Given the description of an element on the screen output the (x, y) to click on. 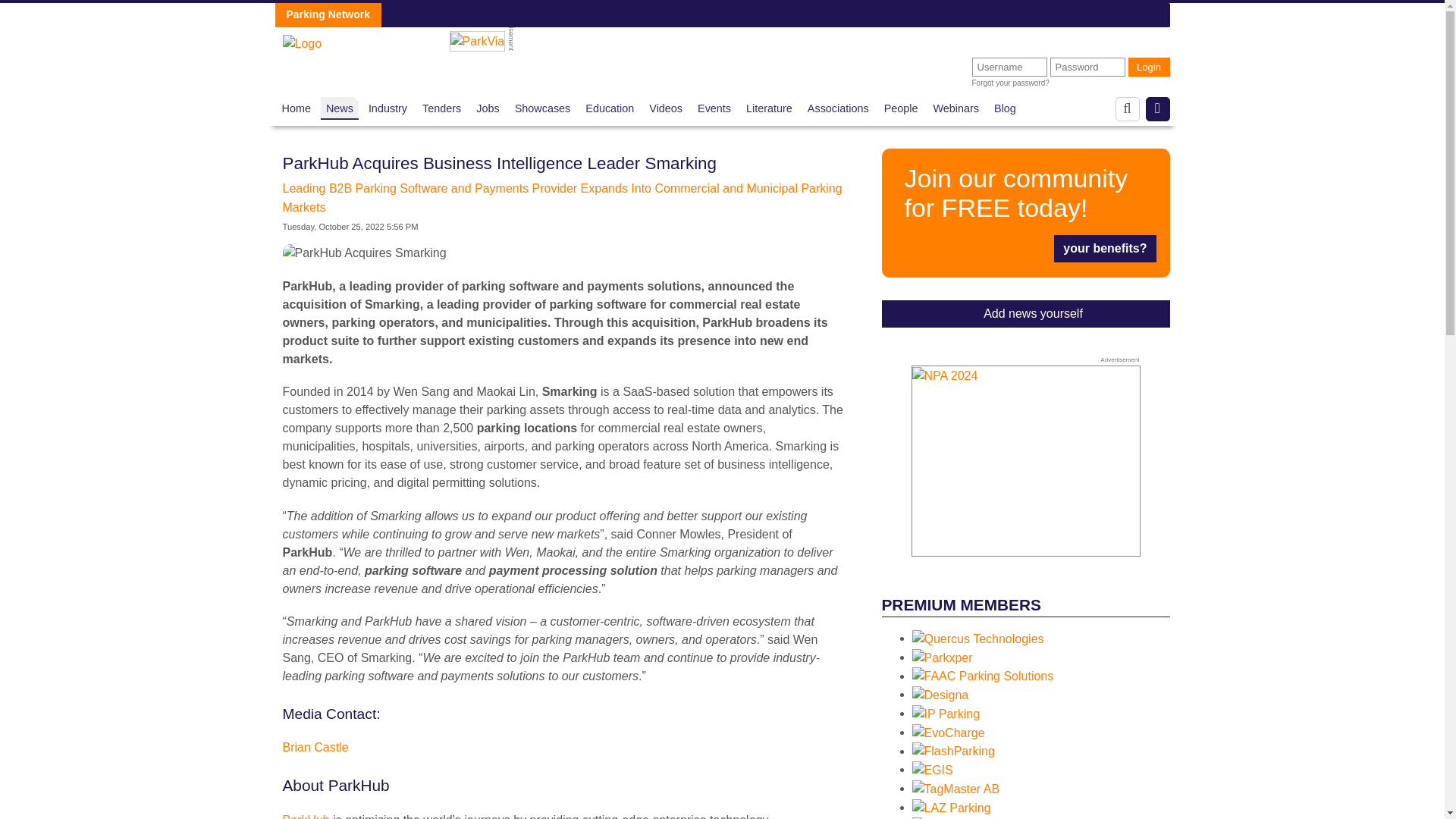
Literature (768, 108)
Blog (1005, 108)
ParkHub (305, 816)
Home (296, 108)
Login (1149, 66)
People (900, 108)
Register here (1024, 212)
News (339, 108)
ParkHub (305, 816)
Videos (665, 108)
